Given the description of an element on the screen output the (x, y) to click on. 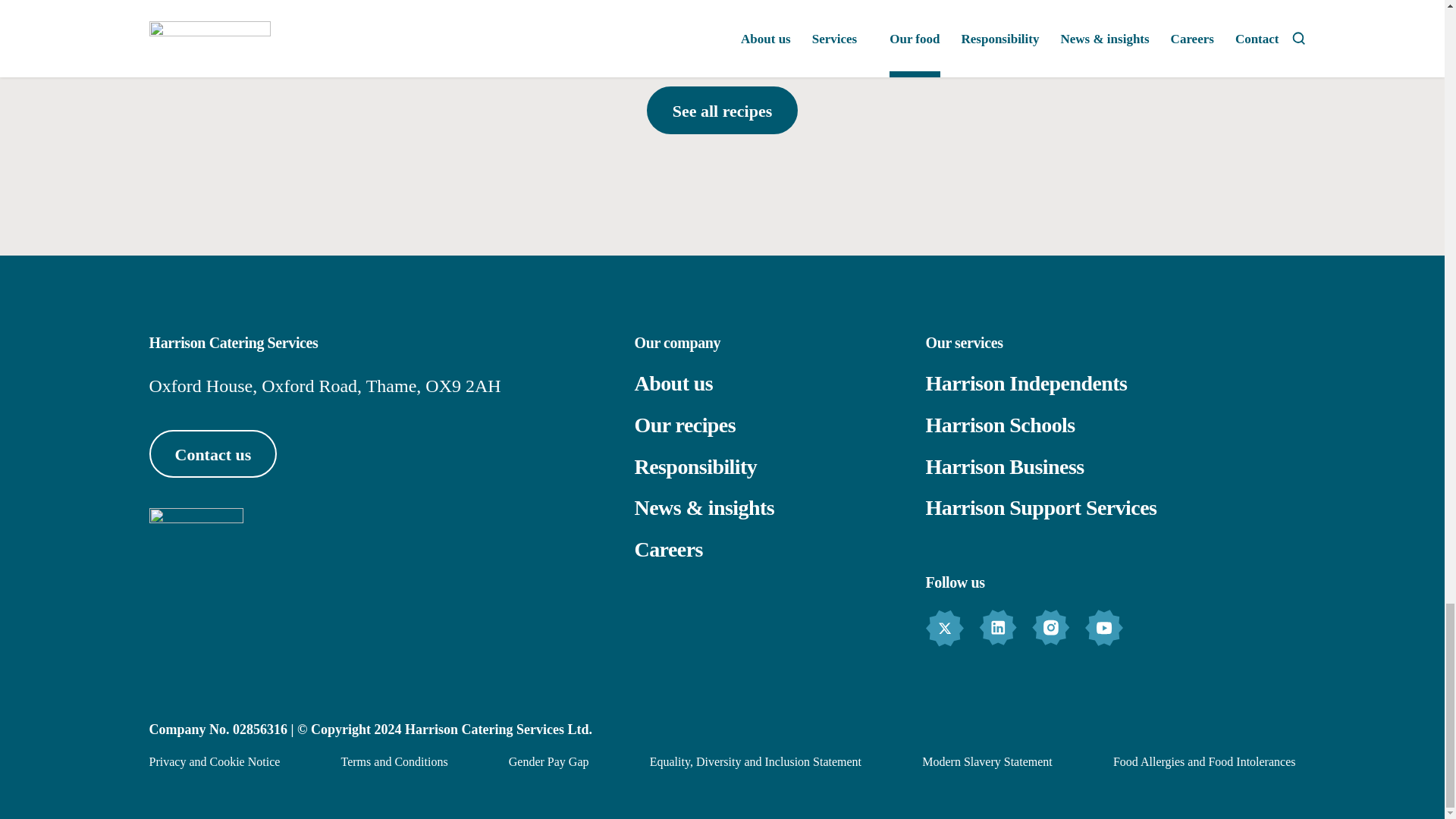
Responsibility (695, 466)
Harrison Independents (1025, 382)
Harrison Support Services (1040, 507)
Careers (667, 549)
Contact us (212, 453)
See all recipes (721, 110)
Our recipes (684, 424)
Gender Pay Gap (407, 13)
Harrison Schools (548, 761)
Food Allergies and Food Intolerances (999, 424)
Privacy and Cookie Notice (721, 13)
Harrison Business (1204, 761)
